Given the description of an element on the screen output the (x, y) to click on. 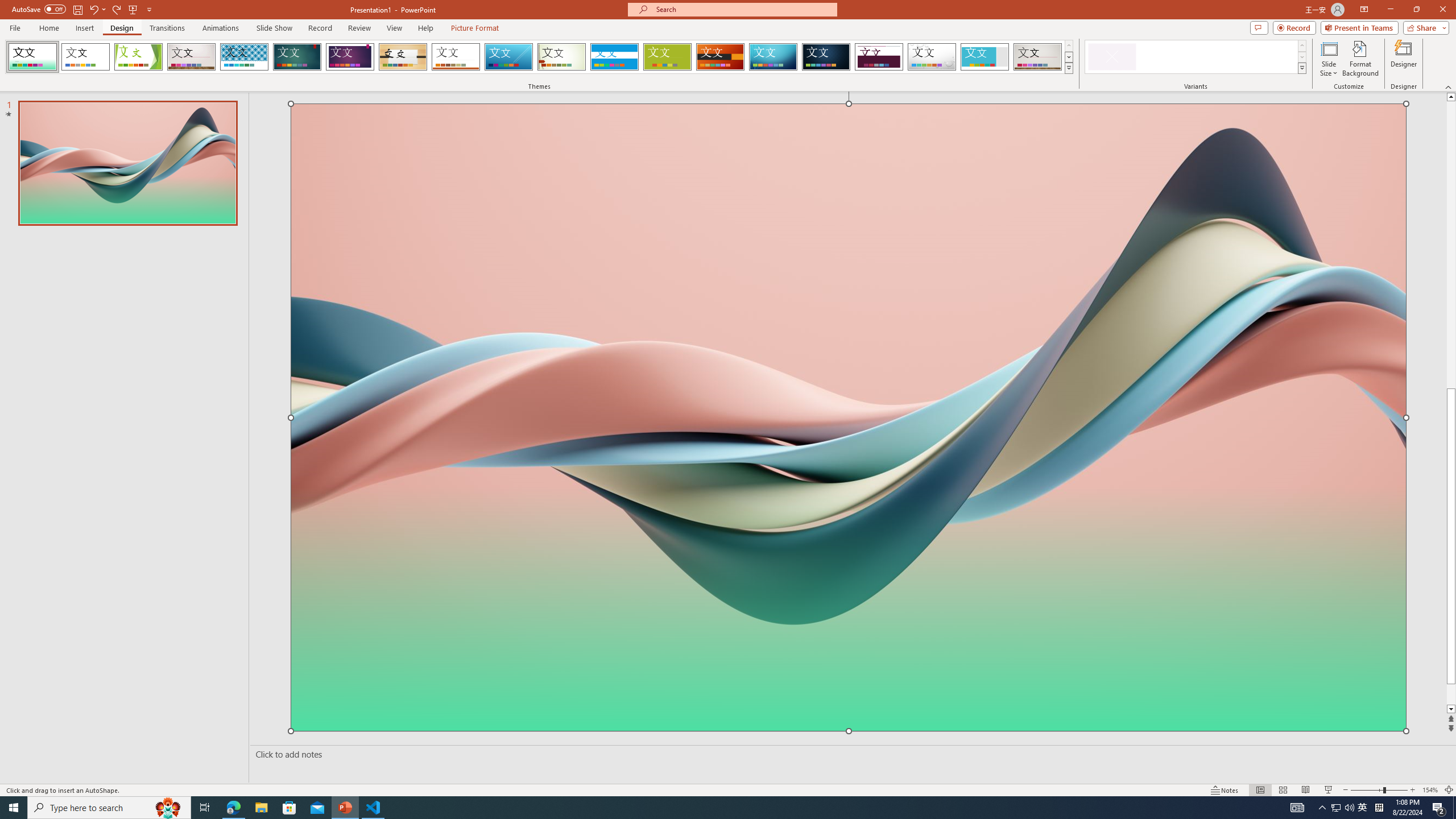
Page down (1450, 689)
AutomationID: ThemeVariantsGallery (1195, 56)
Designer (1403, 58)
Integral (244, 56)
Decorative Locked (848, 588)
Zoom 154% (1430, 790)
Class: MsoCommandBar (728, 789)
Circuit (772, 56)
Microsoft search (742, 9)
